Given the description of an element on the screen output the (x, y) to click on. 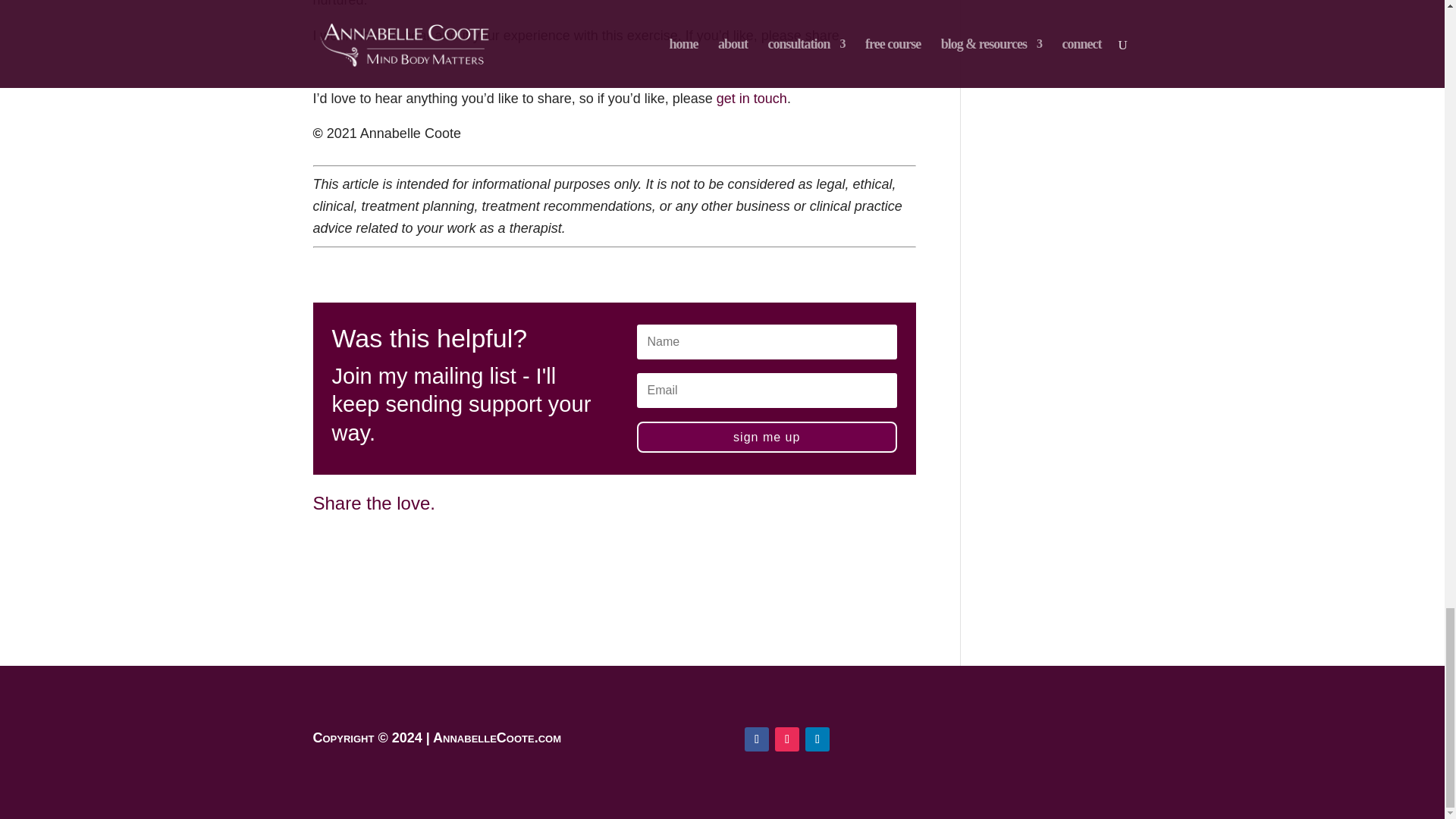
AnnabelleCoote.com (496, 737)
get in touch (751, 98)
Follow on Facebook (756, 739)
Follow on Instagram (786, 739)
sign me up (766, 436)
Follow on LinkedIn (817, 739)
